Given the description of an element on the screen output the (x, y) to click on. 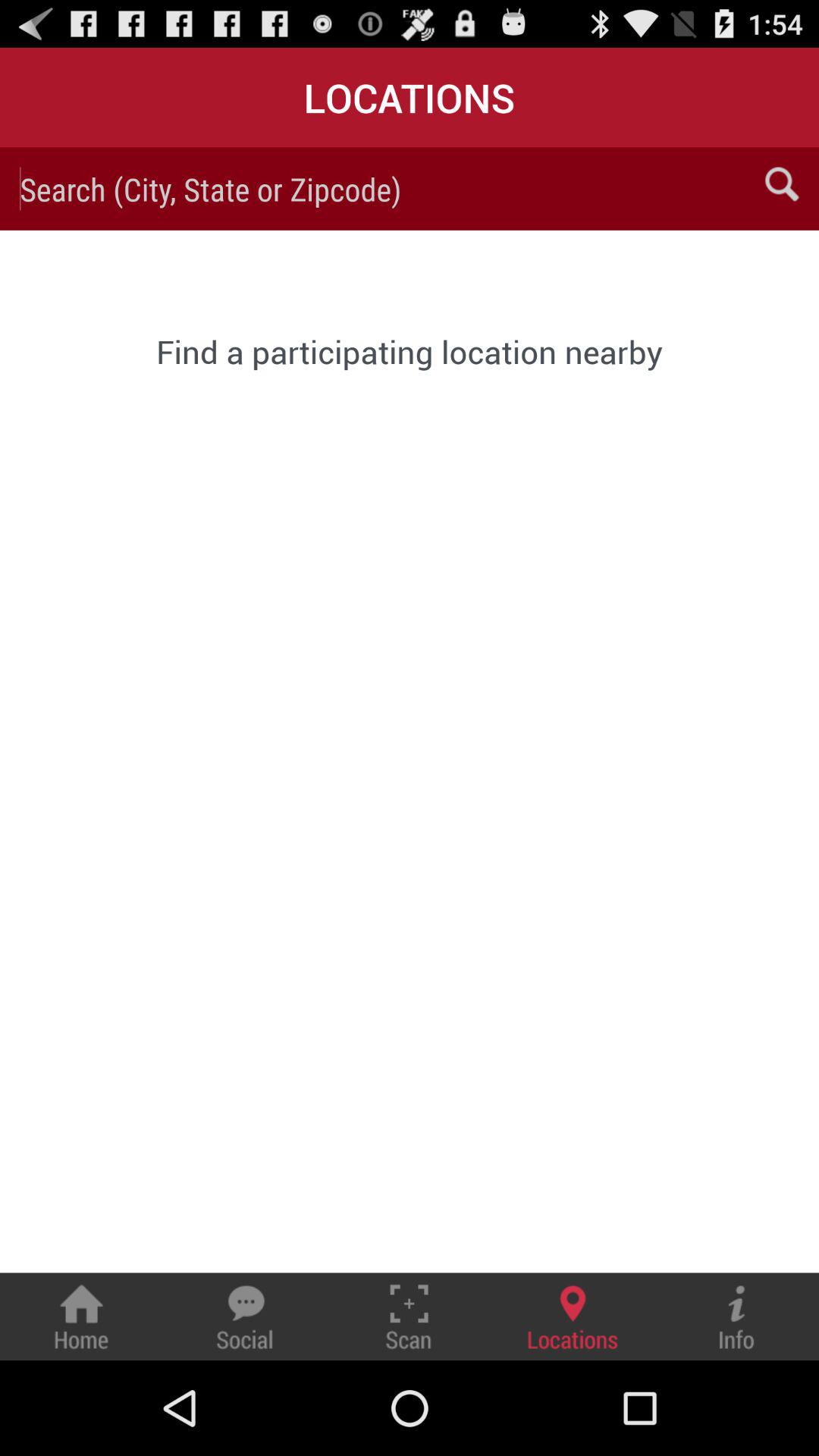
turn on the find a participating item (409, 351)
